Given the description of an element on the screen output the (x, y) to click on. 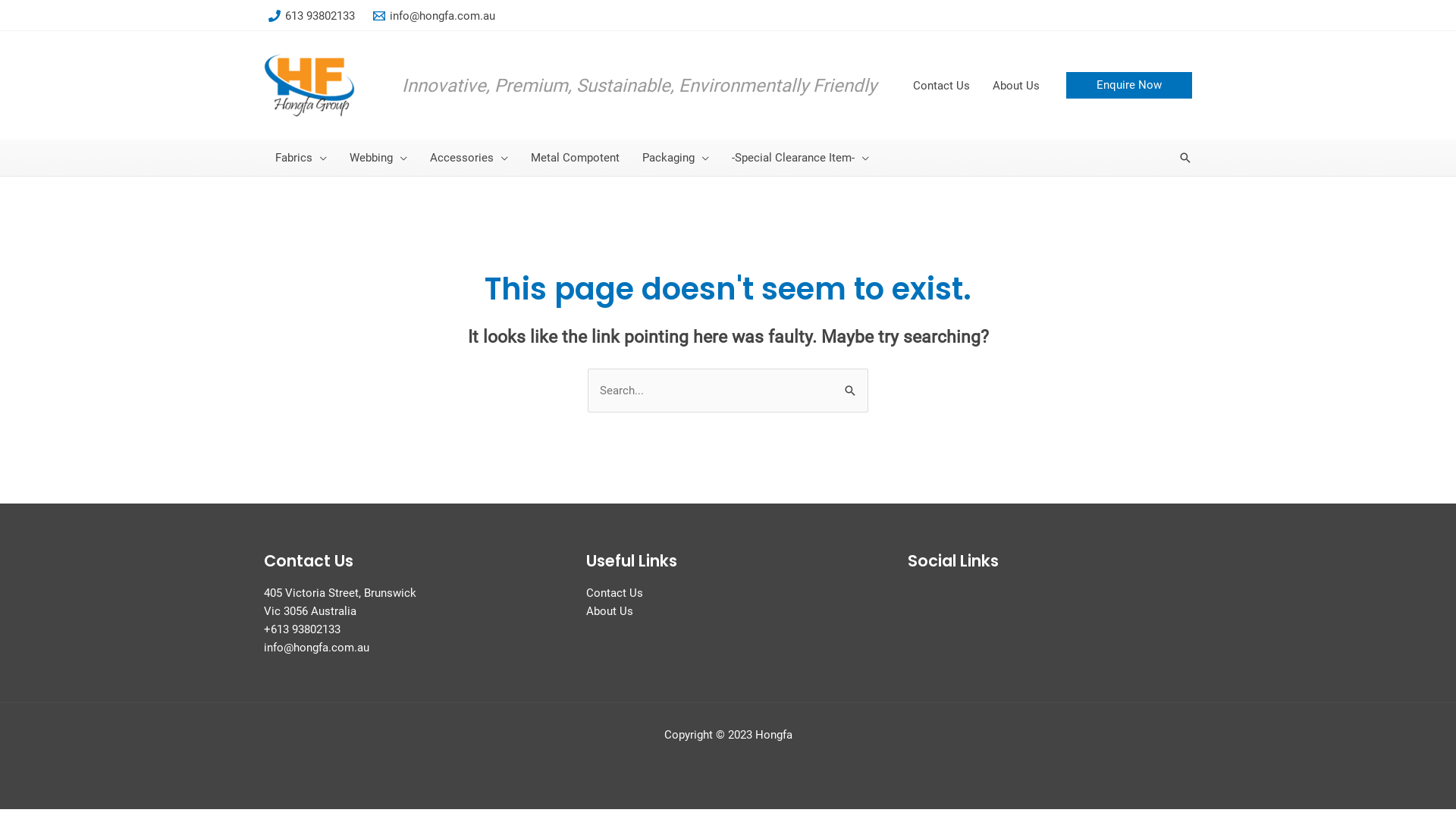
Metal Compotent Element type: text (574, 157)
About Us Element type: text (1016, 85)
Packaging Element type: text (675, 157)
-Special Clearance Item- Element type: text (800, 157)
Search Element type: text (851, 383)
Webbing Element type: text (378, 157)
Contact Us Element type: text (941, 85)
Enquire Now Element type: text (1129, 85)
613 93802133 Element type: text (311, 15)
info@hongfa.com.au Element type: text (433, 15)
Contact Us Element type: text (614, 592)
Fabrics Element type: text (300, 157)
Search Element type: text (1185, 157)
Accessories Element type: text (468, 157)
About Us Element type: text (609, 611)
